Given the description of an element on the screen output the (x, y) to click on. 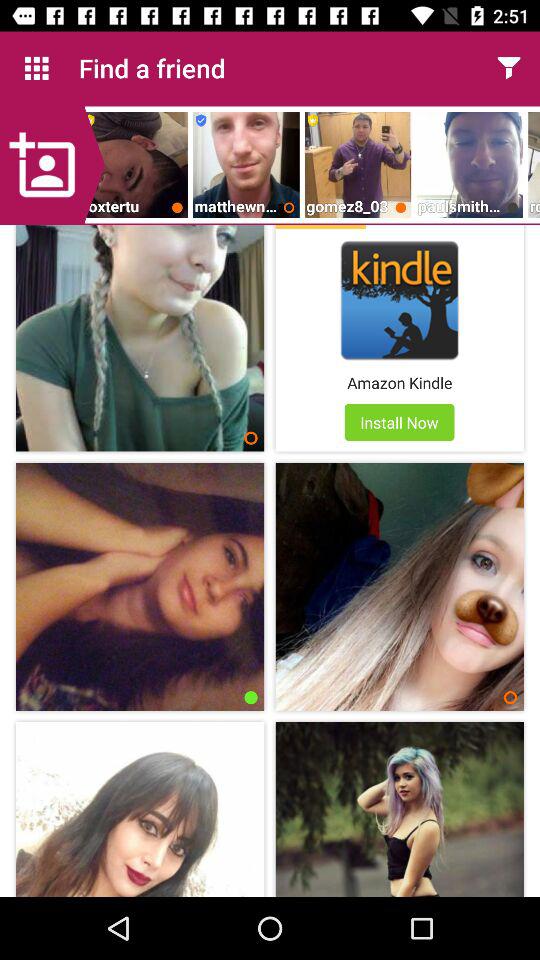
open app above the install now icon (399, 382)
